Given the description of an element on the screen output the (x, y) to click on. 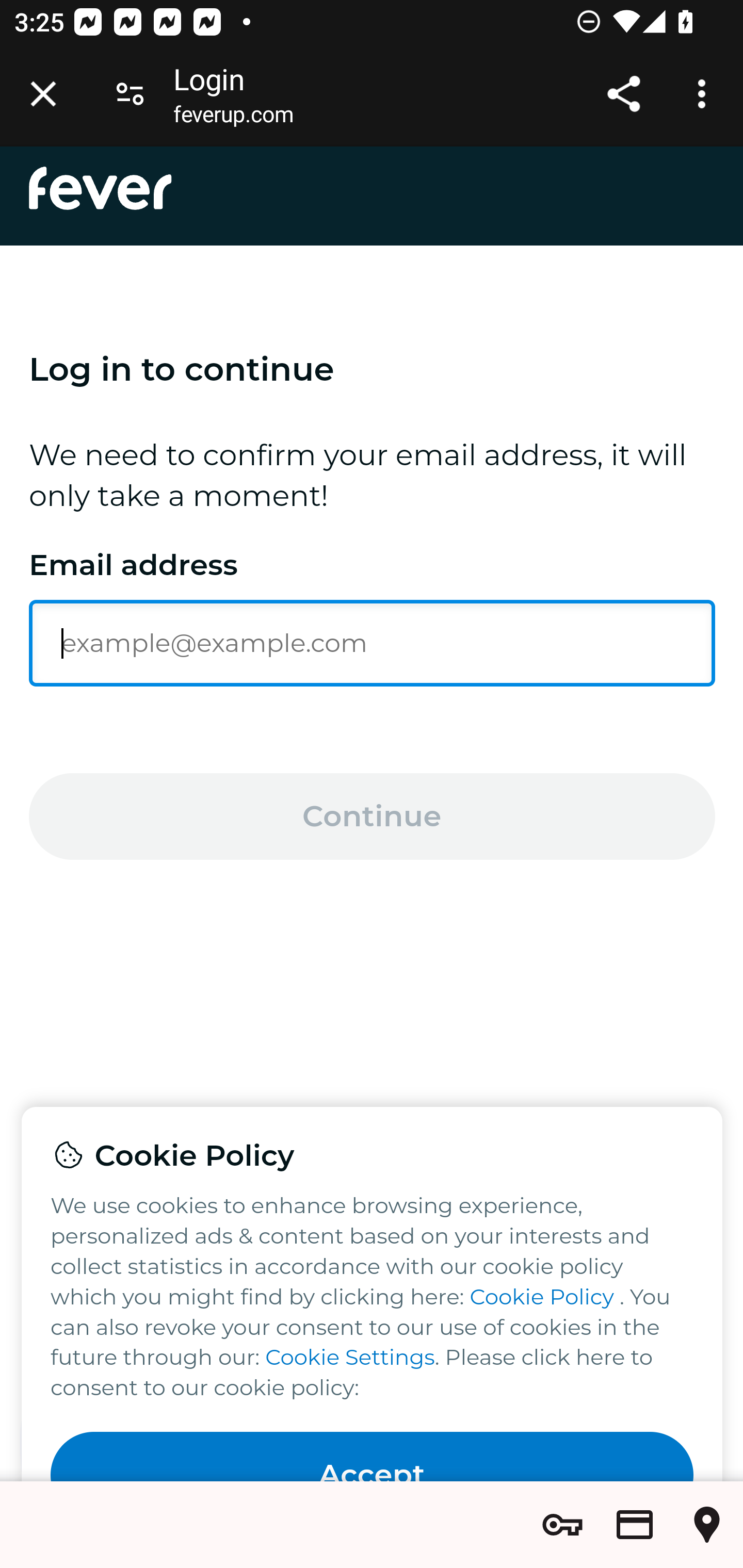
Close tab (43, 93)
Share link address (623, 93)
Customize and control Google Chrome (705, 93)
Connection is secure (129, 93)
feverup.com (233, 117)
en (100, 187)
Continue (372, 816)
Cookie Policy (541, 1295)
Cookie Settings (348, 1357)
Accept (372, 1456)
Show saved passwords and password options (562, 1524)
Show saved payment methods (634, 1524)
Show saved addresses (706, 1524)
